Given the description of an element on the screen output the (x, y) to click on. 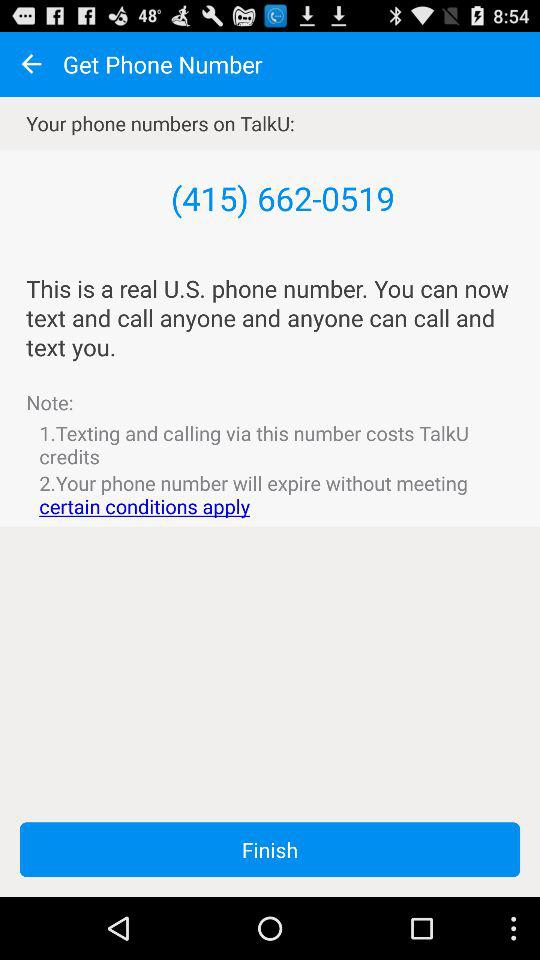
choose button at the bottom (269, 849)
